Given the description of an element on the screen output the (x, y) to click on. 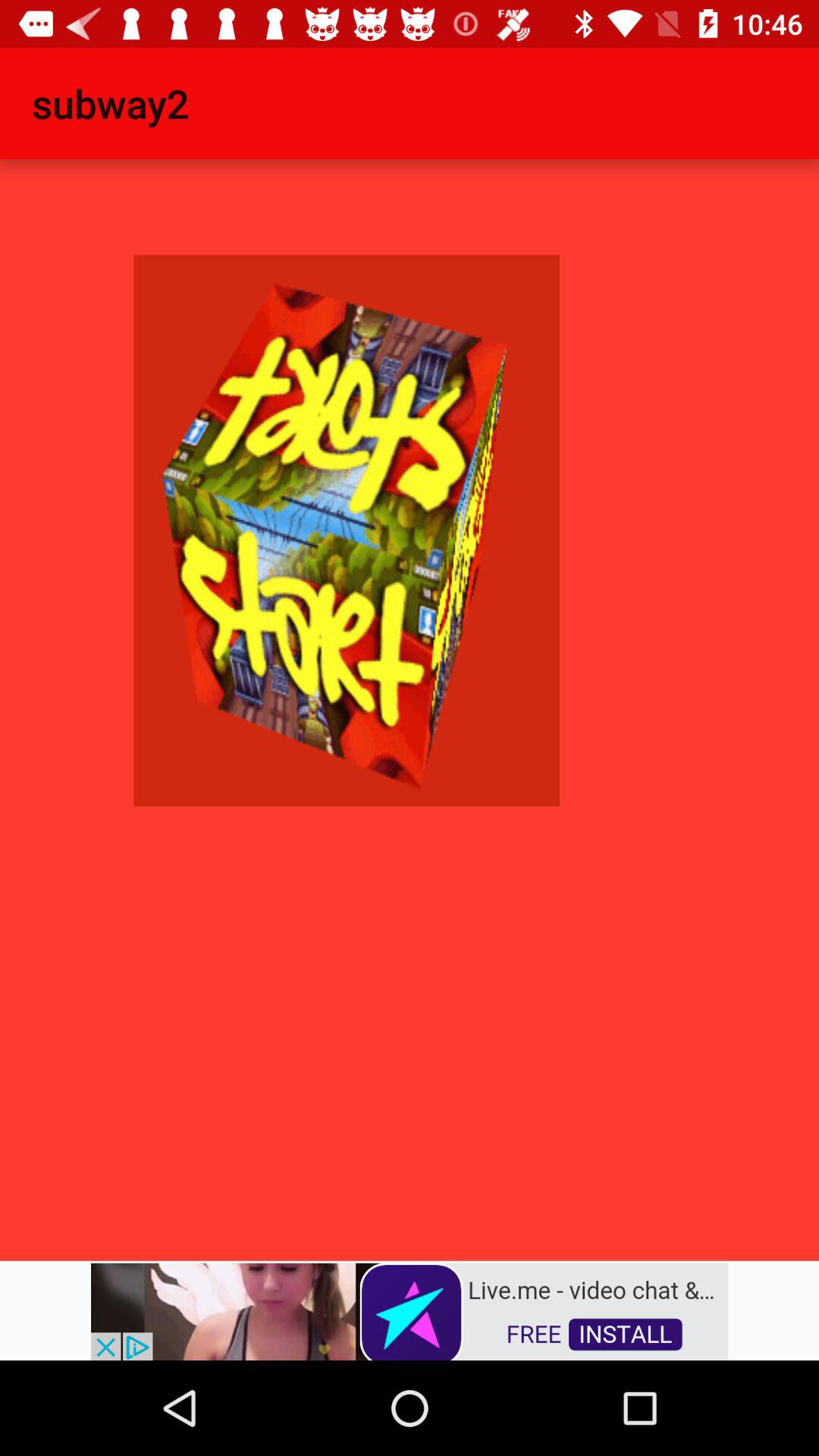
view advertisement (409, 1310)
